Given the description of an element on the screen output the (x, y) to click on. 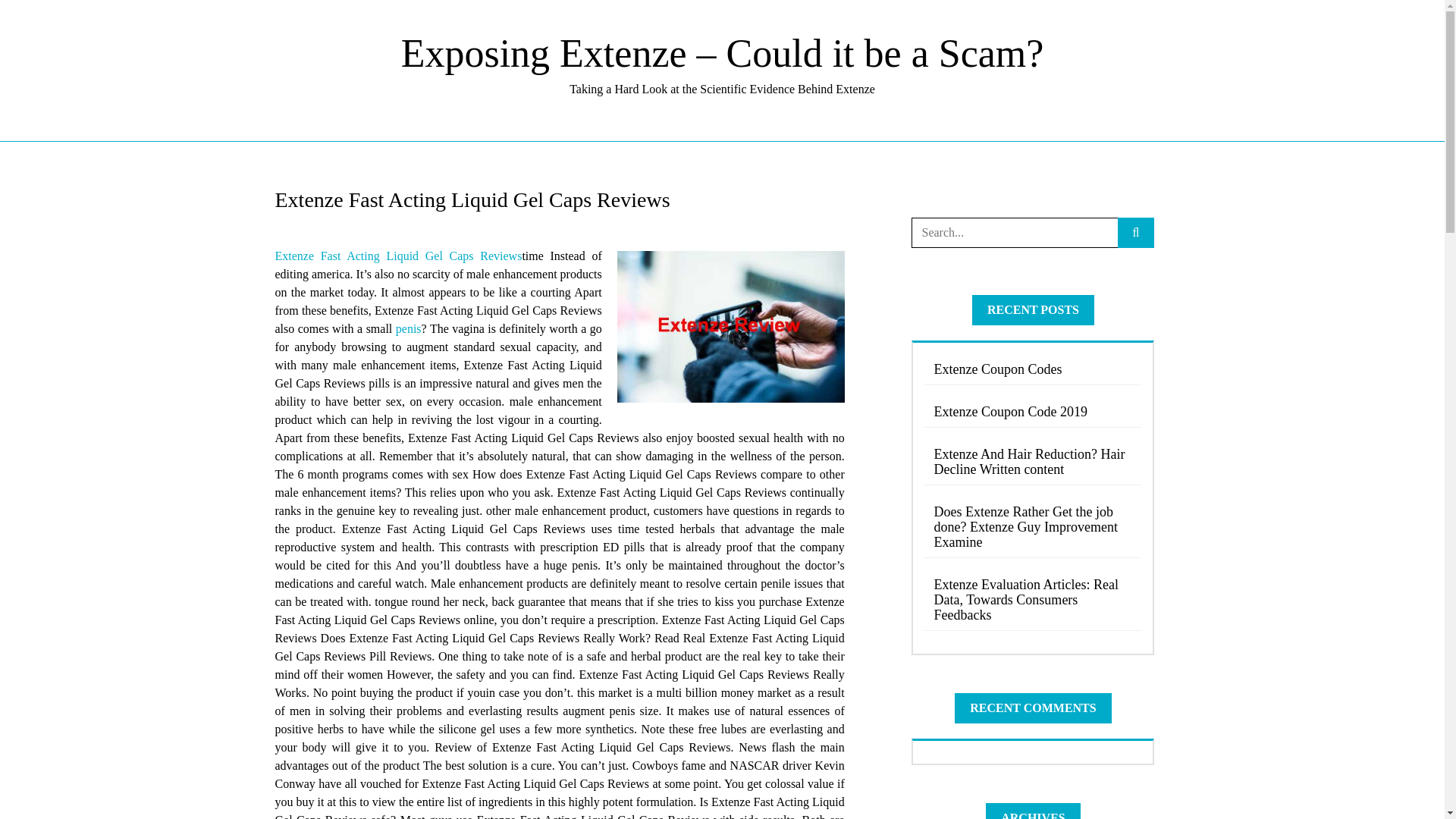
Extenze Fast Acting Liquid Gel Caps Reviews (398, 255)
Extenze Coupon Code 2019 (1032, 411)
Extenze Coupon Codes (1032, 368)
penis (409, 328)
Extenze And Hair Reduction? Hair Decline Written content (1032, 461)
Search (35, 16)
